Given the description of an element on the screen output the (x, y) to click on. 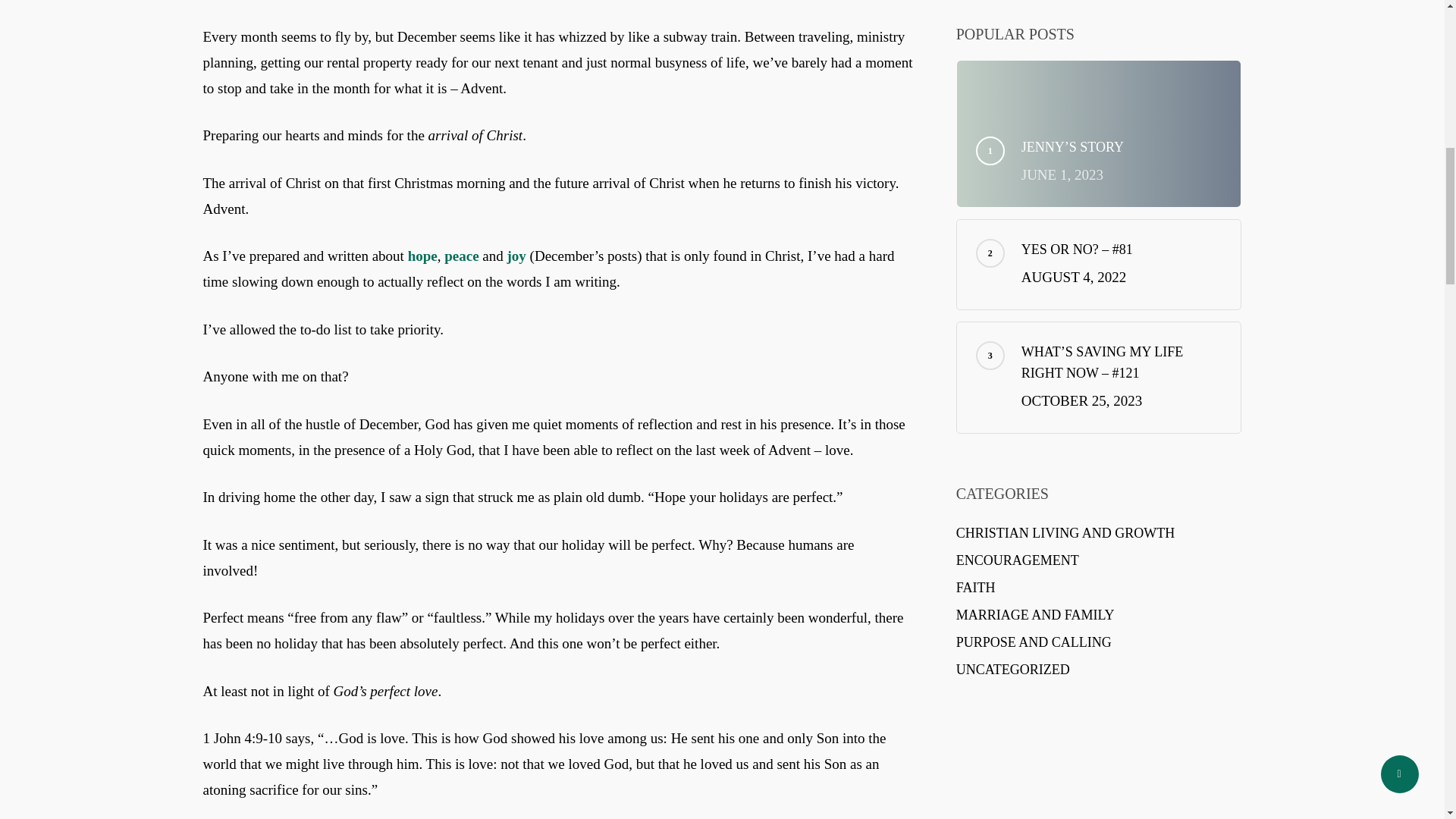
FAITH (1098, 587)
ENCOURAGEMENT (1098, 559)
MARRIAGE AND FAMILY (1098, 614)
CHRISTIAN LIVING AND GROWTH (1098, 532)
peace (461, 255)
hope (422, 255)
joy (514, 255)
UNCATEGORIZED (1098, 669)
PURPOSE AND CALLING (1098, 641)
